Given the description of an element on the screen output the (x, y) to click on. 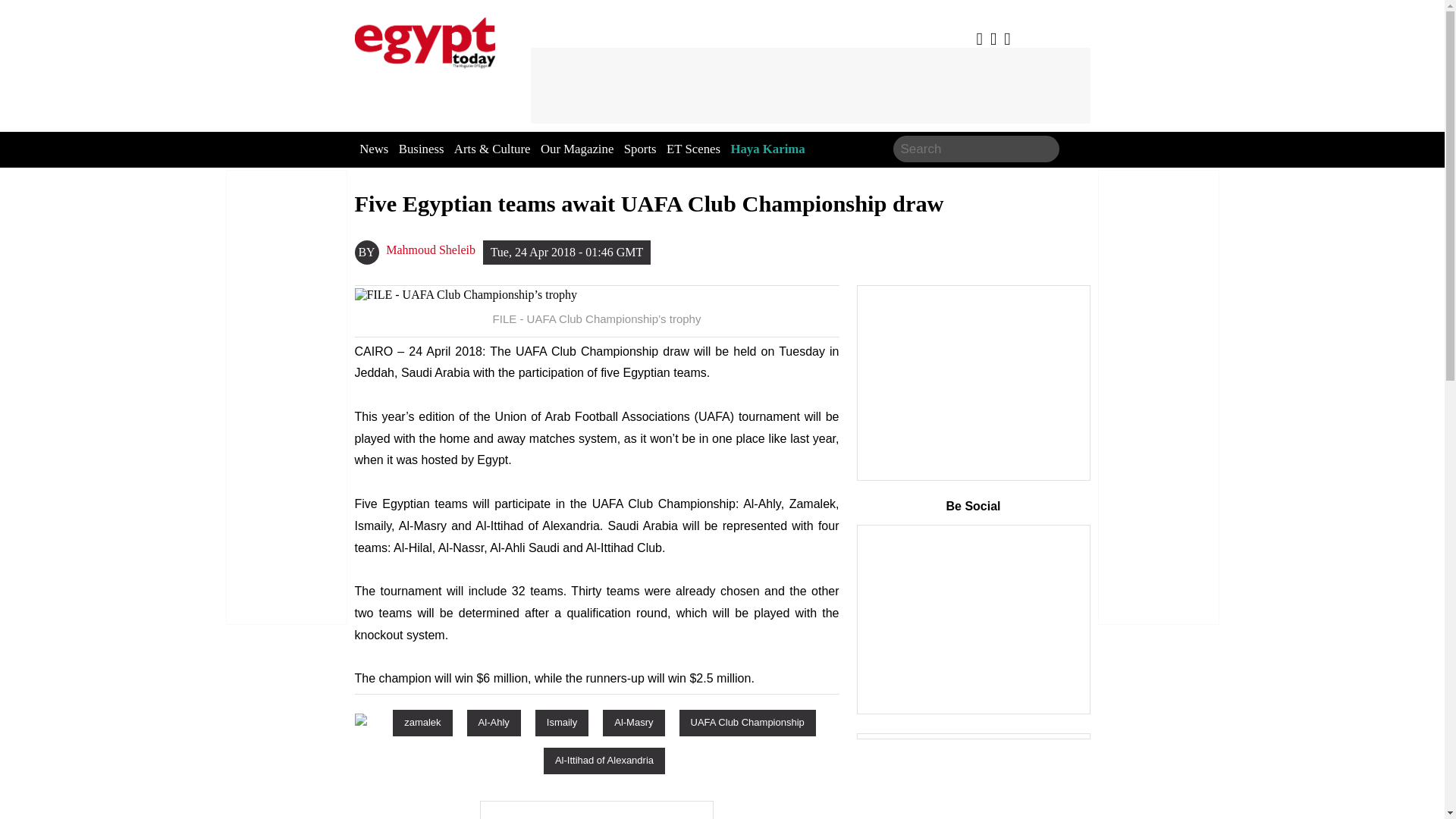
Al-Masry (632, 722)
Mahmoud Sheleib (430, 250)
Al-Ahly (494, 722)
Ismaily (561, 722)
EgyptToday (425, 39)
UAFA Club Championship (747, 722)
zamalek (422, 722)
ET Scenes (693, 149)
Al-Ittihad of Alexandria (604, 760)
Business (421, 149)
